Given the description of an element on the screen output the (x, y) to click on. 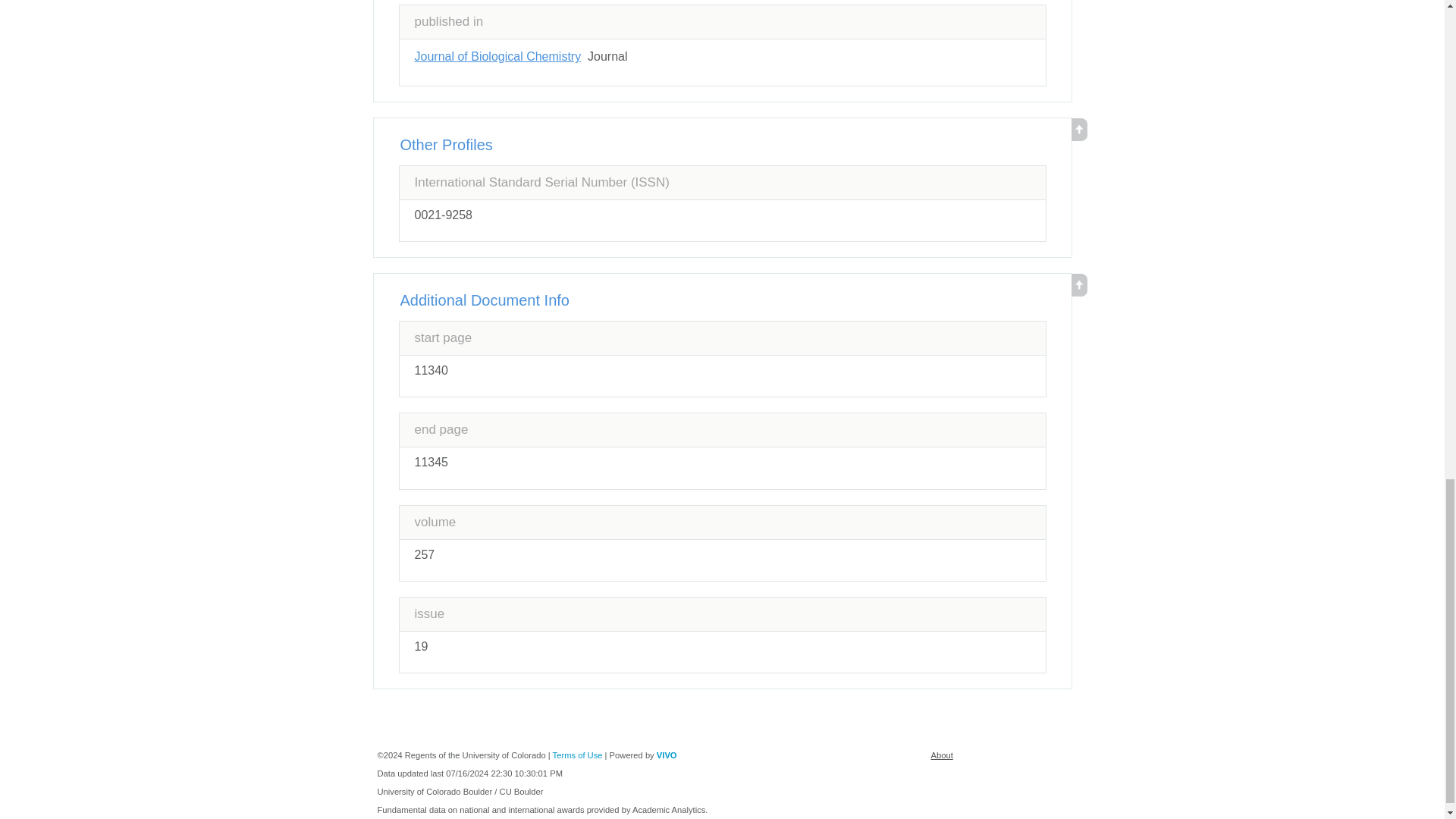
About (942, 755)
VIVO (666, 755)
Terms of Use (577, 755)
Journal of Biological Chemistry (496, 56)
